Given the description of an element on the screen output the (x, y) to click on. 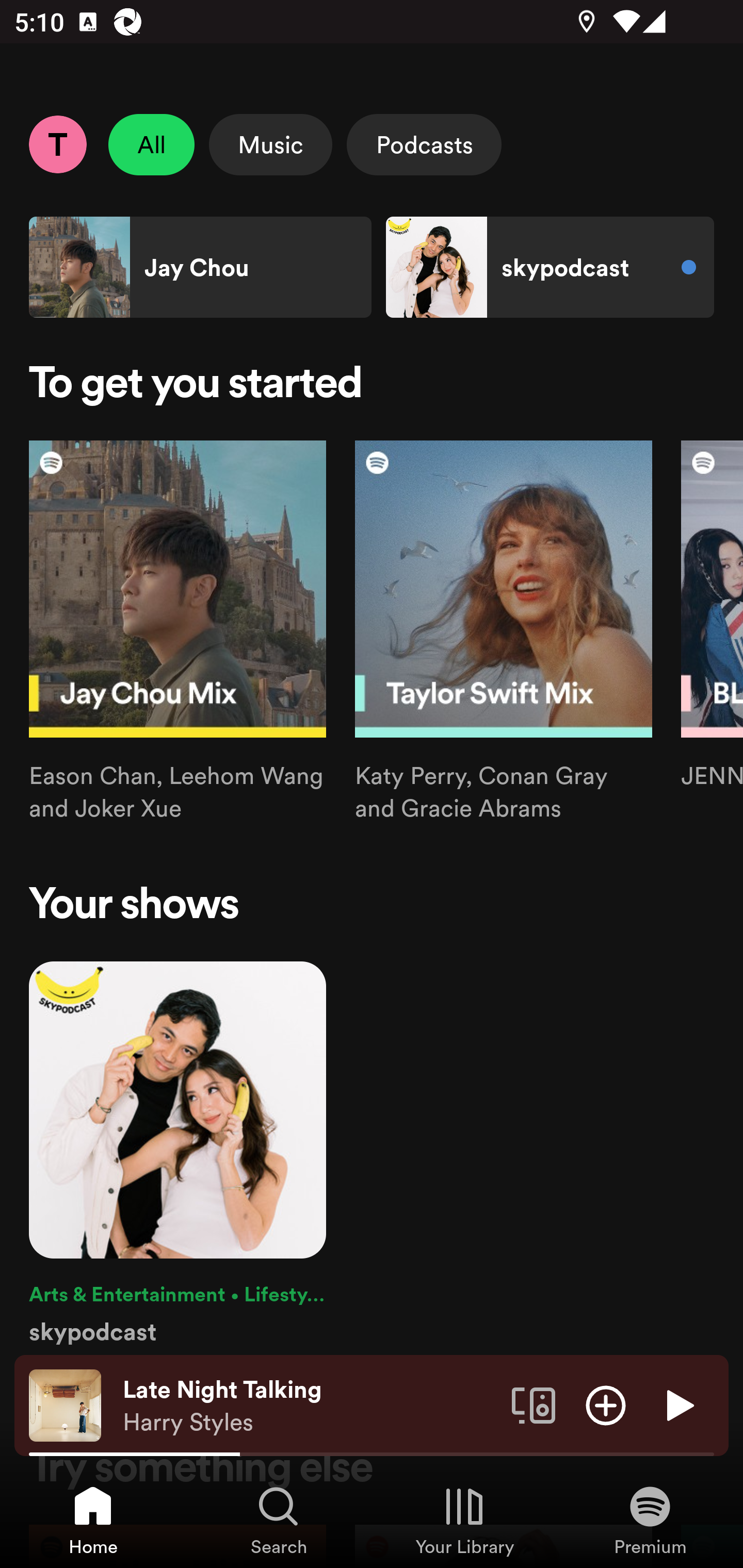
Profile (57, 144)
All Unselect All (151, 144)
Music Select Music (270, 144)
Podcasts Select Podcasts (423, 144)
Jay Chou Shortcut Jay Chou (199, 267)
skypodcast Shortcut skypodcast New content (549, 267)
Late Night Talking Harry Styles (309, 1405)
The cover art of the currently playing track (64, 1404)
Connect to a device. Opens the devices menu (533, 1404)
Add item (605, 1404)
Play (677, 1404)
Home, Tab 1 of 4 Home Home (92, 1519)
Search, Tab 2 of 4 Search Search (278, 1519)
Your Library, Tab 3 of 4 Your Library Your Library (464, 1519)
Premium, Tab 4 of 4 Premium Premium (650, 1519)
